Given the description of an element on the screen output the (x, y) to click on. 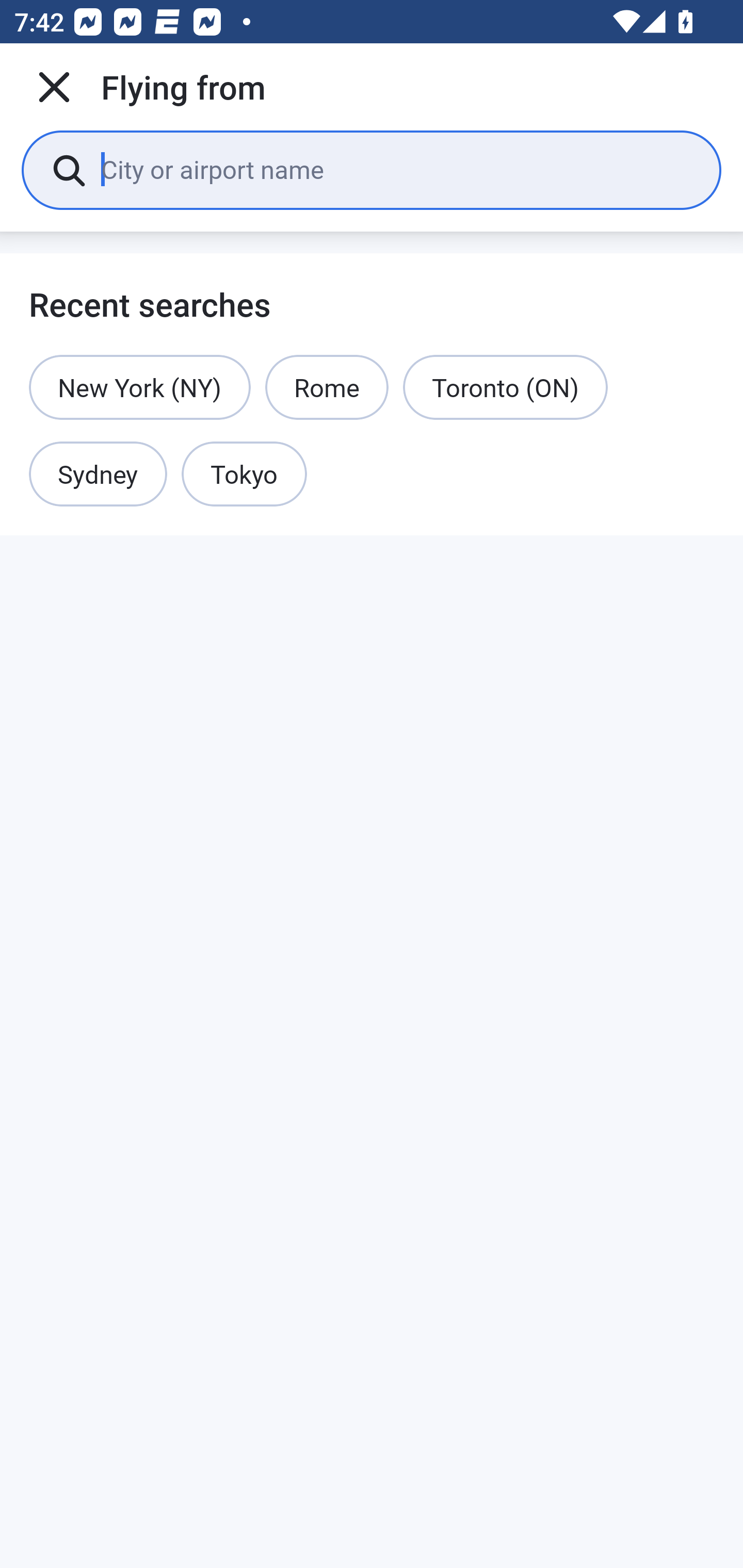
City or airport name (396, 169)
New York (NY) (139, 387)
Rome (326, 387)
Toronto (ON) (504, 387)
Sydney (97, 474)
Tokyo (243, 474)
